Given the description of an element on the screen output the (x, y) to click on. 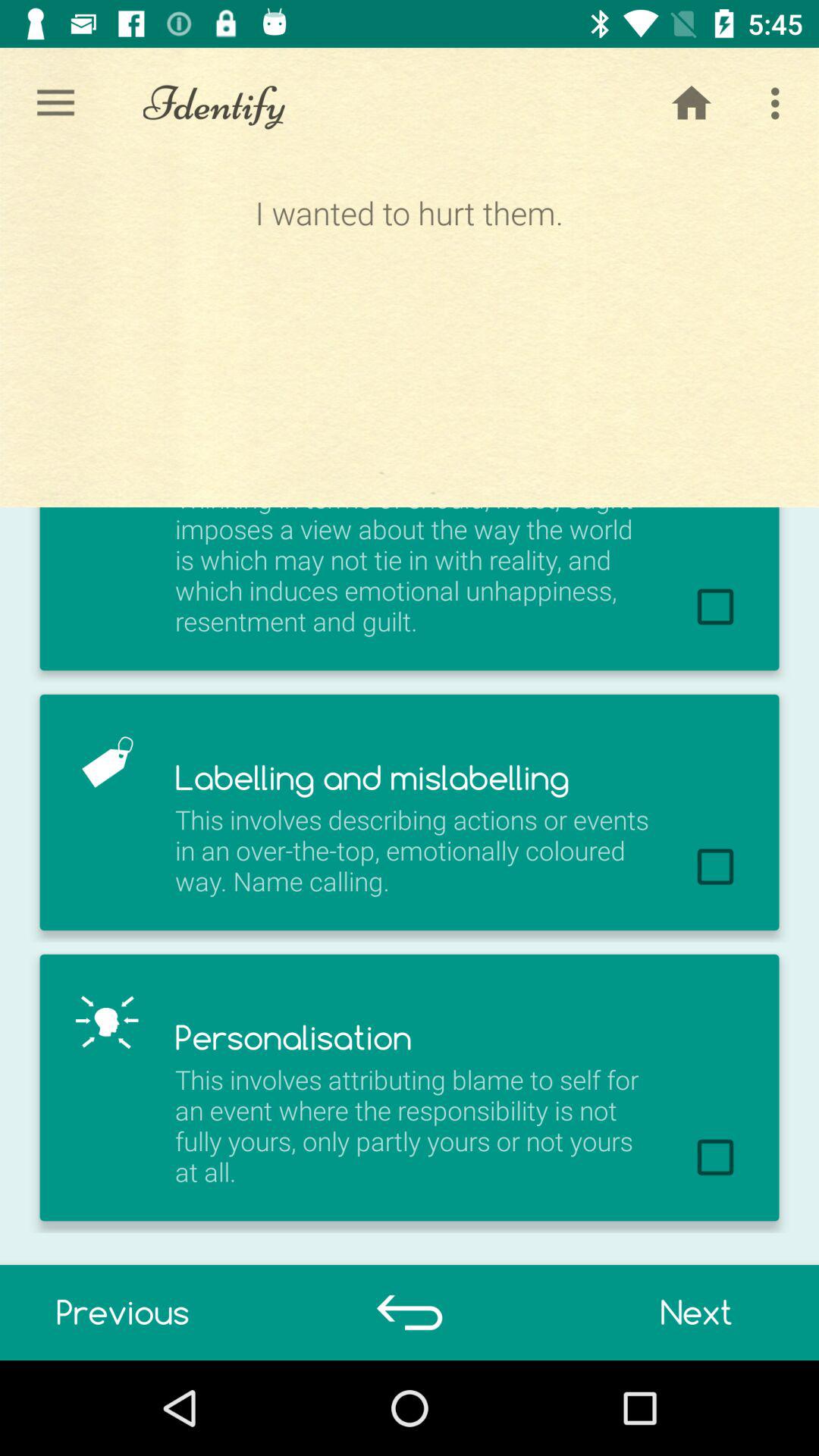
click the icon to the left of identify icon (55, 103)
